Given the description of an element on the screen output the (x, y) to click on. 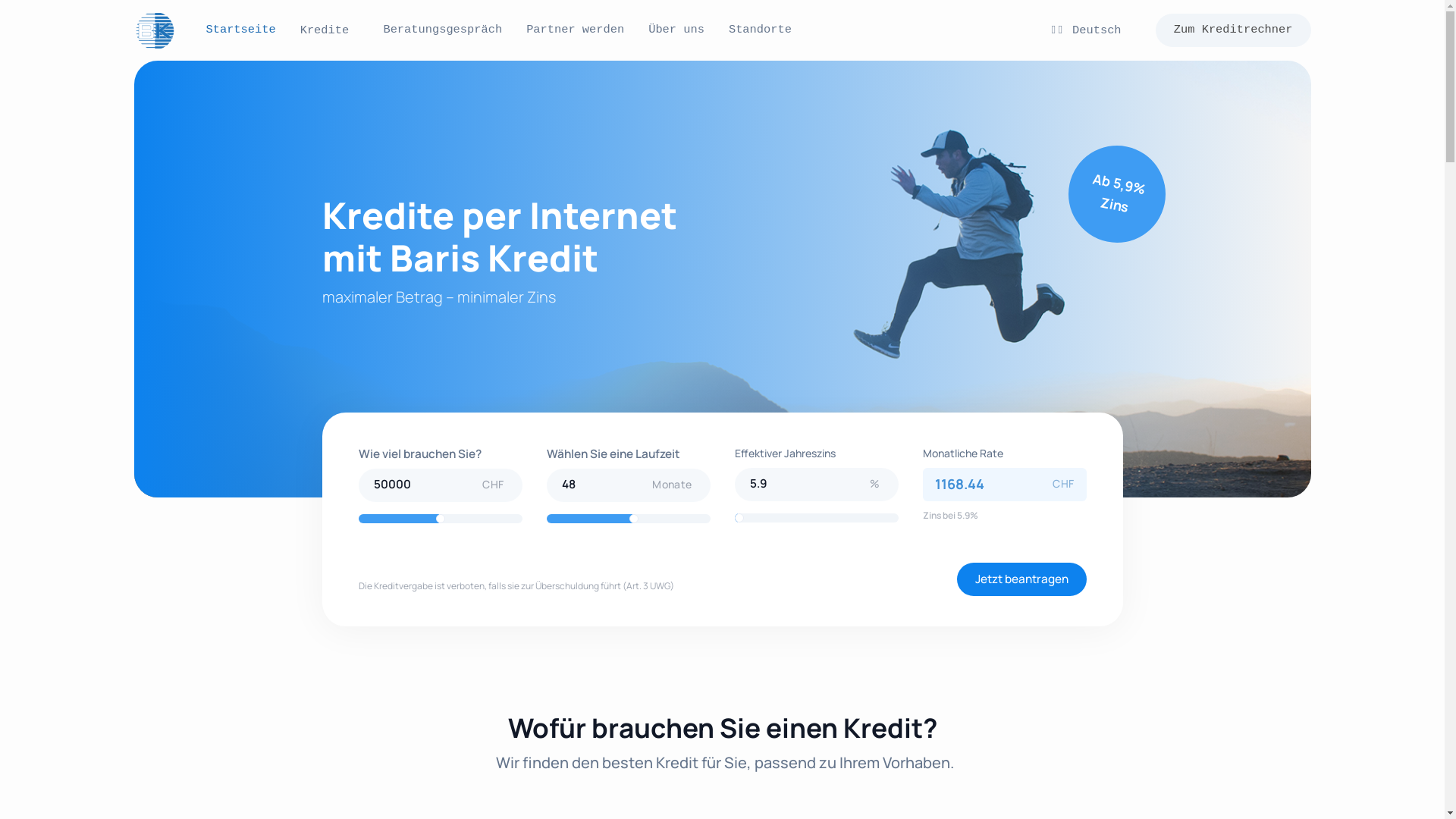
Zum Kreditrechner Element type: text (1233, 30)
Jetzt beantragen Element type: text (1021, 579)
Partner werden Element type: text (575, 30)
Kredite Element type: text (329, 30)
Zum Kreditrechner Element type: text (1233, 29)
Jetzt beantragen Element type: text (1021, 578)
Startseite Element type: text (241, 30)
Standorte Element type: text (759, 30)
Standorte Element type: text (759, 29)
Partner werden Element type: text (575, 29)
Startseite Element type: text (241, 29)
